Given the description of an element on the screen output the (x, y) to click on. 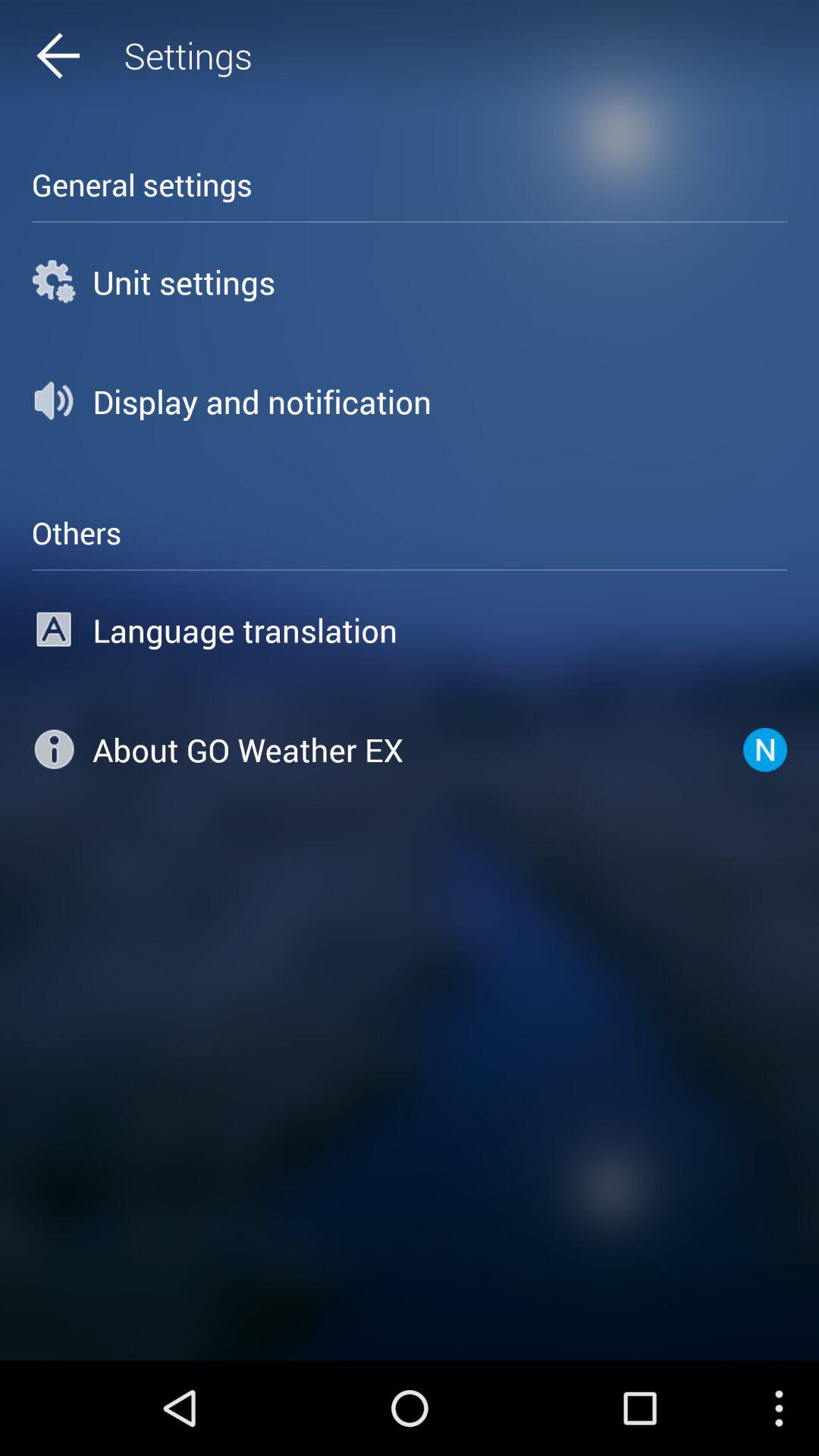
turn off unit settings icon (409, 281)
